Given the description of an element on the screen output the (x, y) to click on. 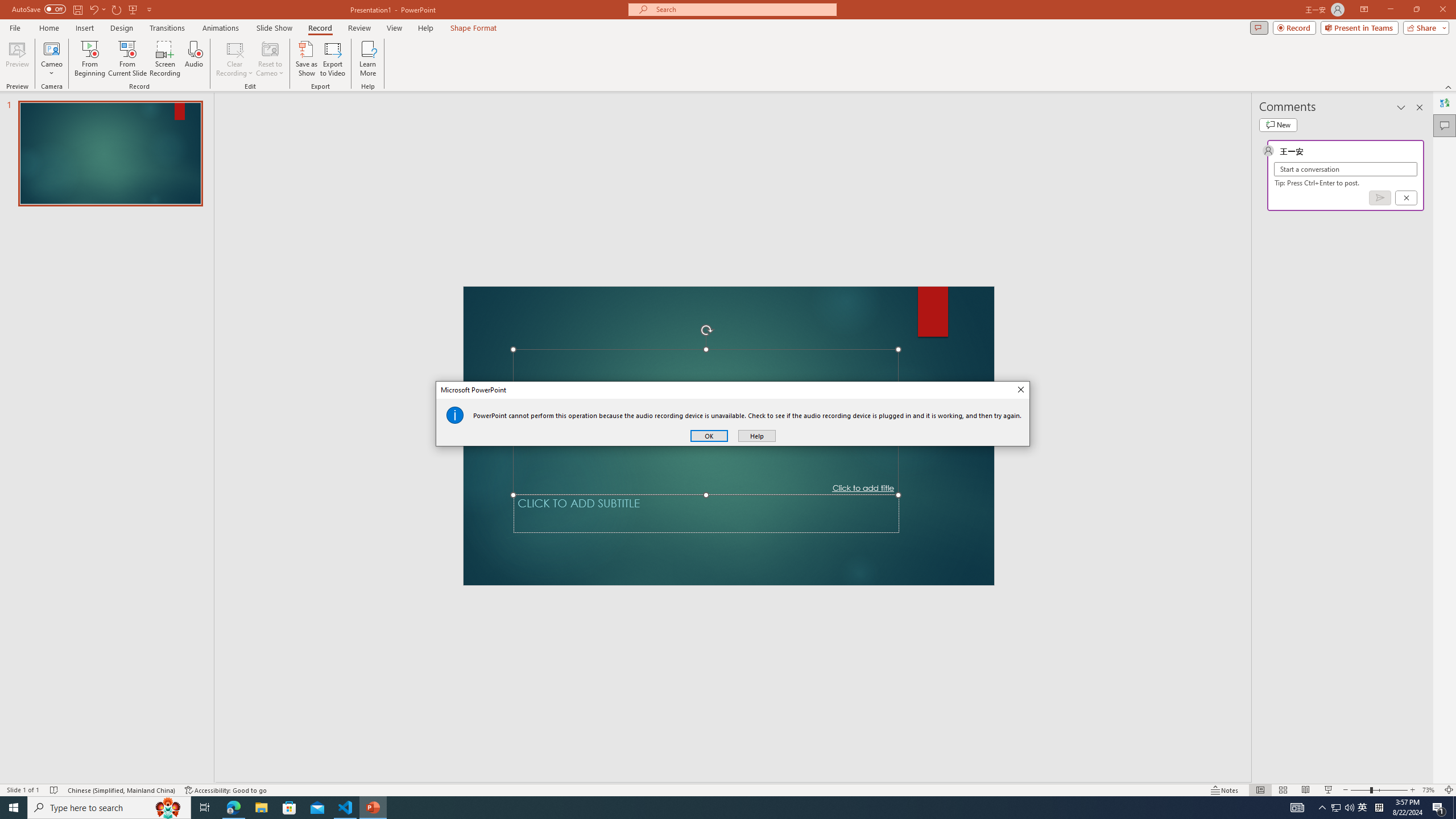
Preview (17, 58)
Review (359, 28)
Audio (193, 58)
OK (709, 435)
Accessibility Checker Accessibility: Good to go (226, 790)
AutoSave (38, 9)
PowerPoint - 1 running window (373, 807)
Microsoft Edge - 1 running window (233, 807)
Zoom Out (1360, 790)
Zoom to Fit  (1449, 790)
From Beginning (133, 9)
Transitions (167, 28)
Class: MsoCommandBar (728, 789)
New comment (1278, 124)
